Given the description of an element on the screen output the (x, y) to click on. 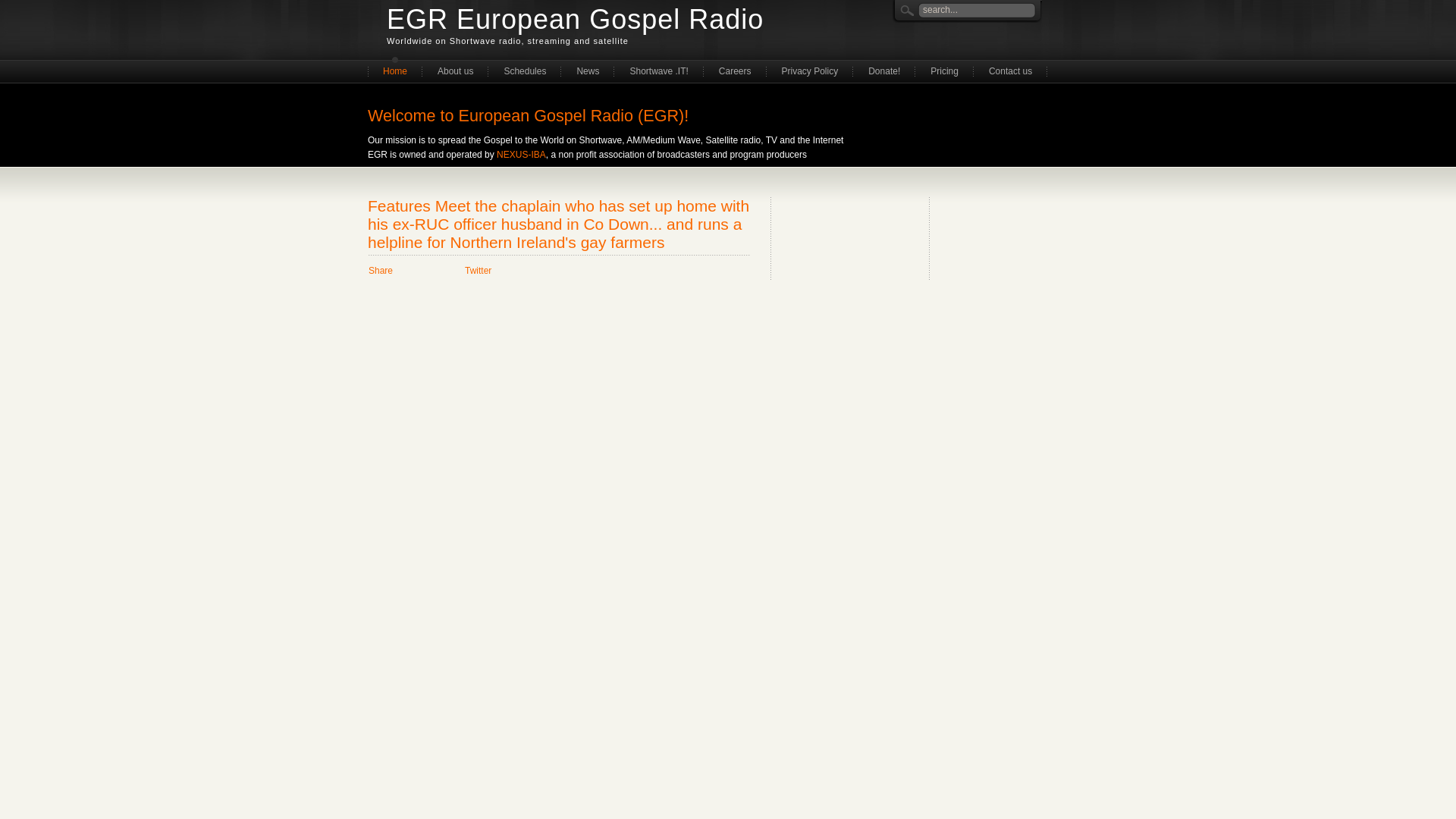
Schedules (523, 69)
Careers (735, 69)
Shortwave .IT! (658, 69)
About us (454, 69)
Donate! (884, 69)
Pricing (944, 69)
Schedules (523, 69)
Share (380, 270)
Home (395, 69)
NEXUS-IBA (521, 154)
